Given the description of an element on the screen output the (x, y) to click on. 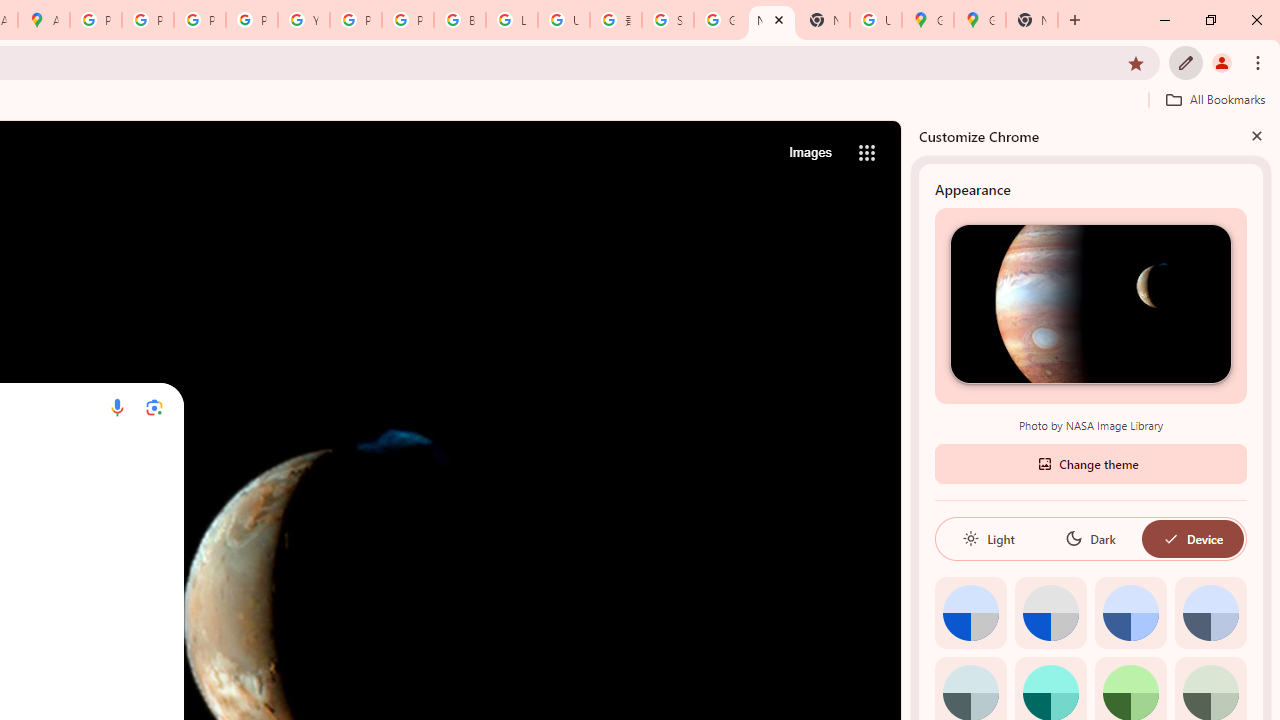
Remove (130, 466)
Cool grey (1210, 612)
Privacy Help Center - Policies Help (200, 20)
All Bookmarks (1215, 99)
New Tab (1032, 20)
Policy Accountability and Transparency - Transparency Center (95, 20)
Light (988, 538)
Grey default color (1050, 612)
